Given the description of an element on the screen output the (x, y) to click on. 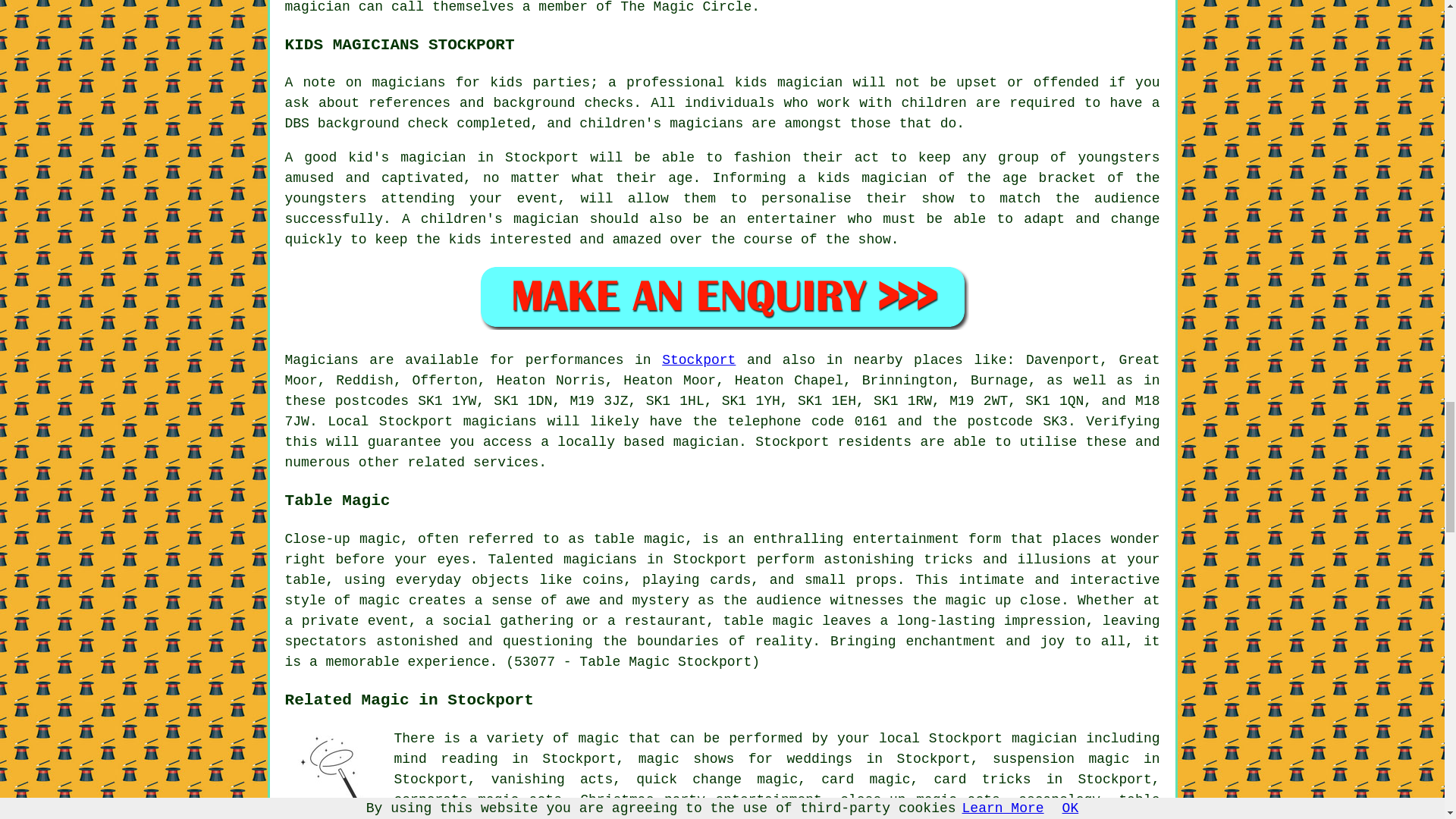
magic (599, 738)
magician (705, 441)
Magic Performances Stockport (334, 773)
Book a Magician in Stockport UK (722, 296)
magic (710, 816)
magic shows for weddings (745, 758)
magicians (500, 421)
Magicians (321, 359)
magician (1044, 738)
